Given the description of an element on the screen output the (x, y) to click on. 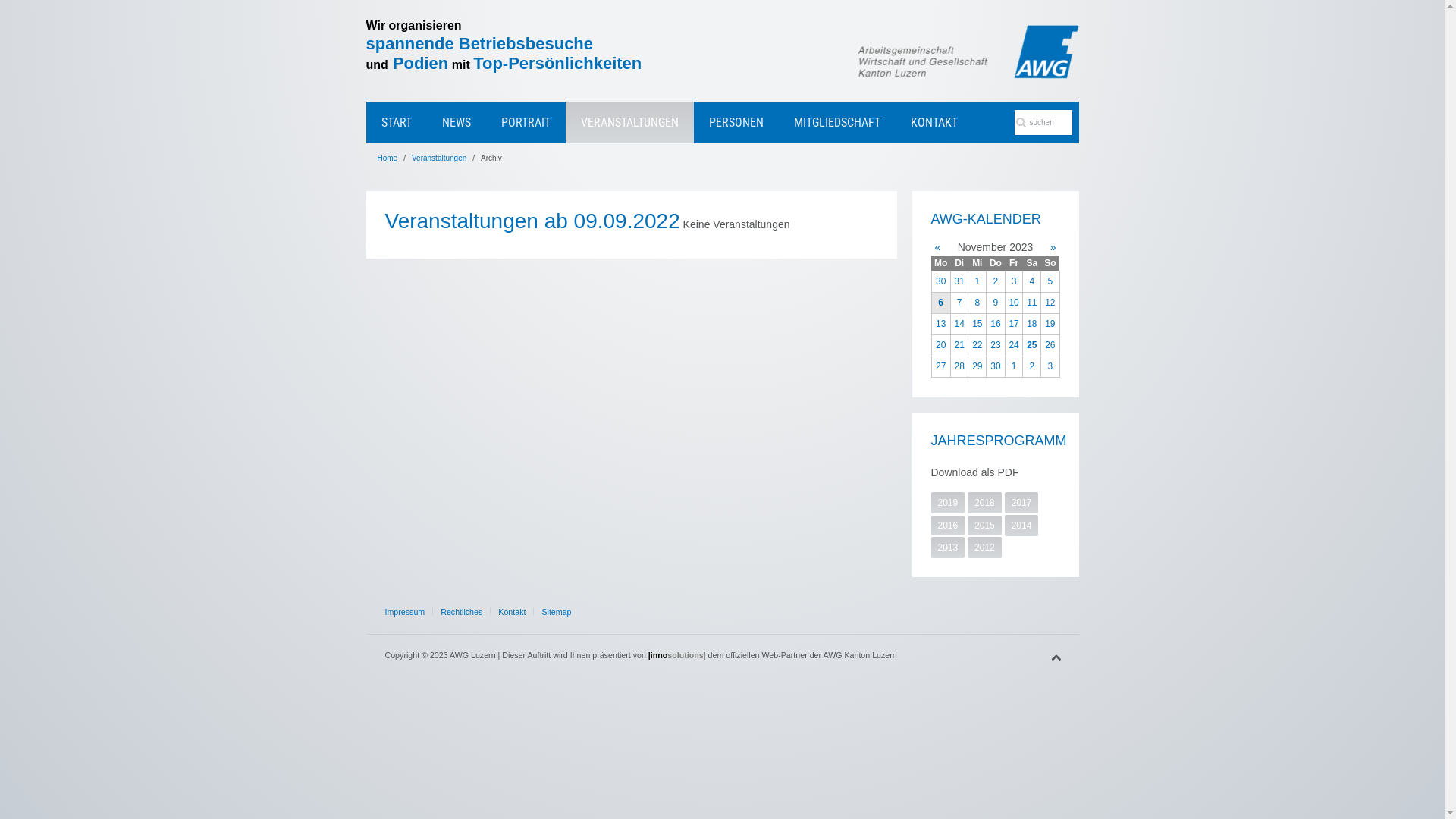
2019 Element type: text (948, 502)
20 Element type: text (940, 345)
21 Element type: text (959, 345)
28 Element type: text (959, 366)
13 Element type: text (940, 323)
1 Element type: text (1013, 366)
Rechtliches Element type: text (461, 611)
|innosolutions| Element type: text (677, 654)
PERSONEN Element type: text (735, 122)
Home Element type: text (387, 158)
18 Element type: text (1031, 323)
19 Element type: text (1049, 323)
3 Element type: text (1013, 281)
5 Element type: text (1049, 281)
VERANSTALTUNGEN Element type: text (629, 122)
MITGLIEDSCHAFT Element type: text (836, 122)
Sitemap Element type: text (556, 611)
2017 Element type: text (1021, 502)
14 Element type: text (959, 323)
12 Element type: text (1049, 302)
Impressum Element type: text (405, 611)
3 Element type: text (1049, 366)
2013 Element type: text (948, 547)
22 Element type: text (976, 345)
17 Element type: text (1013, 323)
2 Element type: text (995, 281)
29 Element type: text (976, 366)
2015 Element type: text (984, 525)
7 Element type: text (959, 302)
KONTAKT Element type: text (933, 122)
26 Element type: text (1049, 345)
1 Element type: text (976, 281)
24 Element type: text (1013, 345)
2018 Element type: text (984, 502)
27 Element type: text (940, 366)
15 Element type: text (976, 323)
30 Element type: text (995, 366)
9 Element type: text (995, 302)
2016 Element type: text (948, 525)
8 Element type: text (976, 302)
NEWS Element type: text (455, 122)
31 Element type: text (959, 281)
4 Element type: text (1031, 281)
2012 Element type: text (984, 547)
Veranstaltungen Element type: text (438, 158)
PORTRAIT Element type: text (524, 122)
10 Element type: text (1013, 302)
11 Element type: text (1031, 302)
30 Element type: text (940, 281)
25 Element type: text (1031, 345)
16 Element type: text (995, 323)
Kontakt Element type: text (511, 611)
2014 Element type: text (1021, 525)
23 Element type: text (995, 345)
2 Element type: text (1031, 366)
6 Element type: text (940, 302)
START Element type: text (395, 122)
